Given the description of an element on the screen output the (x, y) to click on. 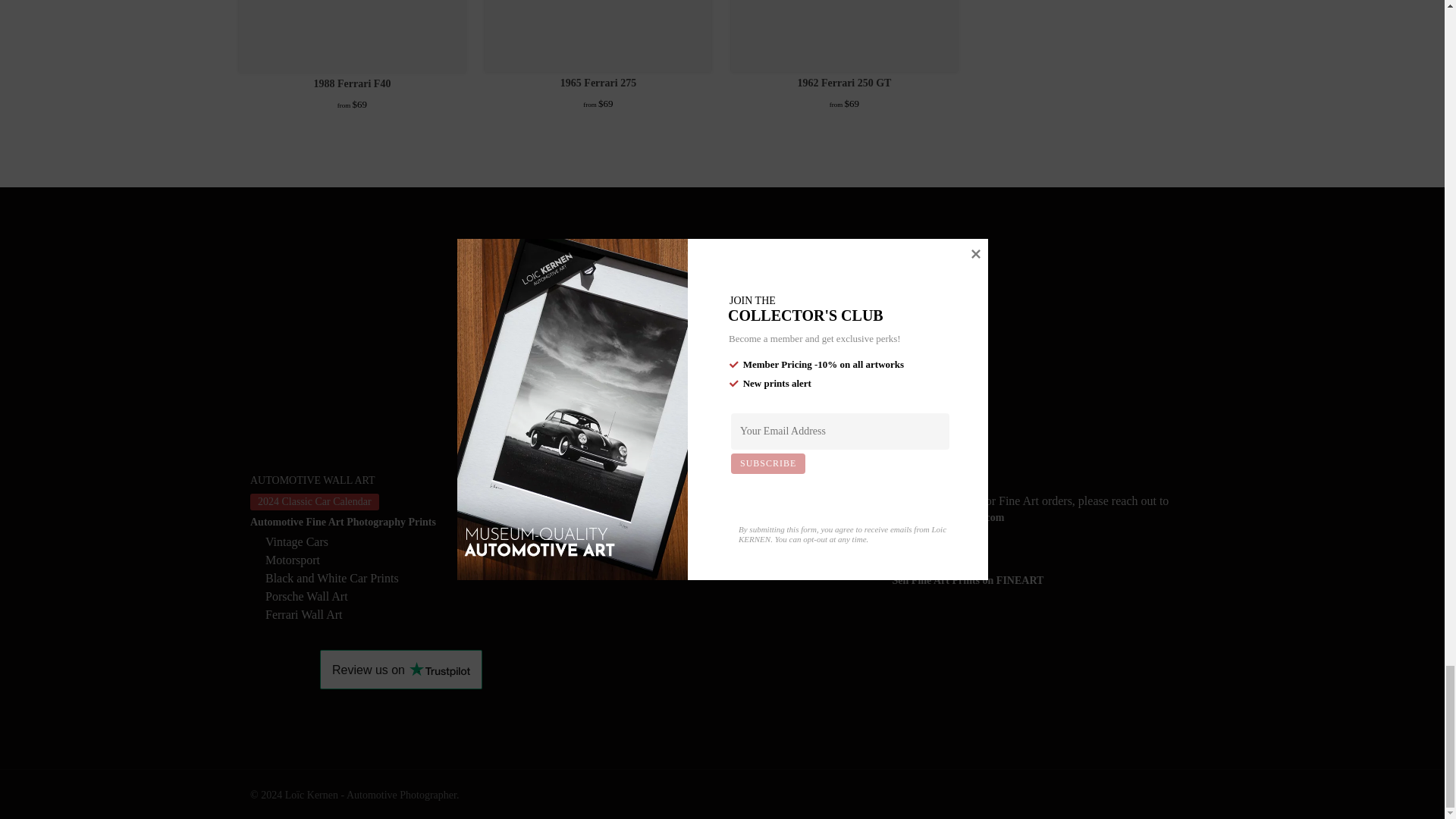
Black and White Car Wall Art and Prints (407, 578)
Customer reviews powered by Trustpilot (400, 669)
Loic Kernen - Professional Automotive Photographer (724, 337)
Motorsport Wall Art and Prints (407, 560)
Ferrari Wall Art and Prints (407, 614)
Car Wall Art and Prints (400, 522)
Vintage Car Wall Art and Prints (407, 541)
Porsche Wall Art and Prints (407, 596)
